Given the description of an element on the screen output the (x, y) to click on. 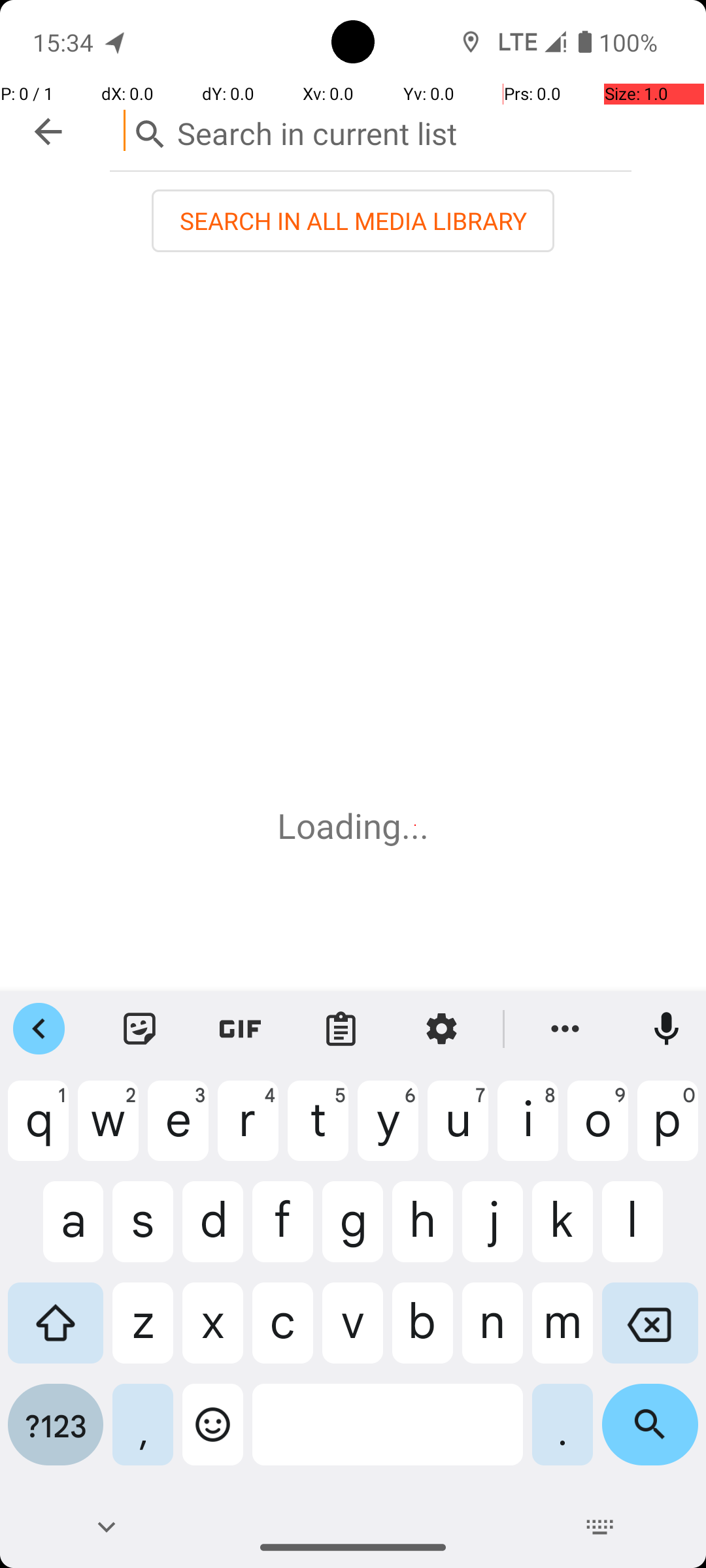
SEARCH IN ALL MEDIA LIBRARY Element type: android.widget.Button (352, 220)
... Element type: android.widget.TextView (414, 825)
   Search in current list Element type: android.widget.AutoCompleteTextView (370, 130)
